Given the description of an element on the screen output the (x, y) to click on. 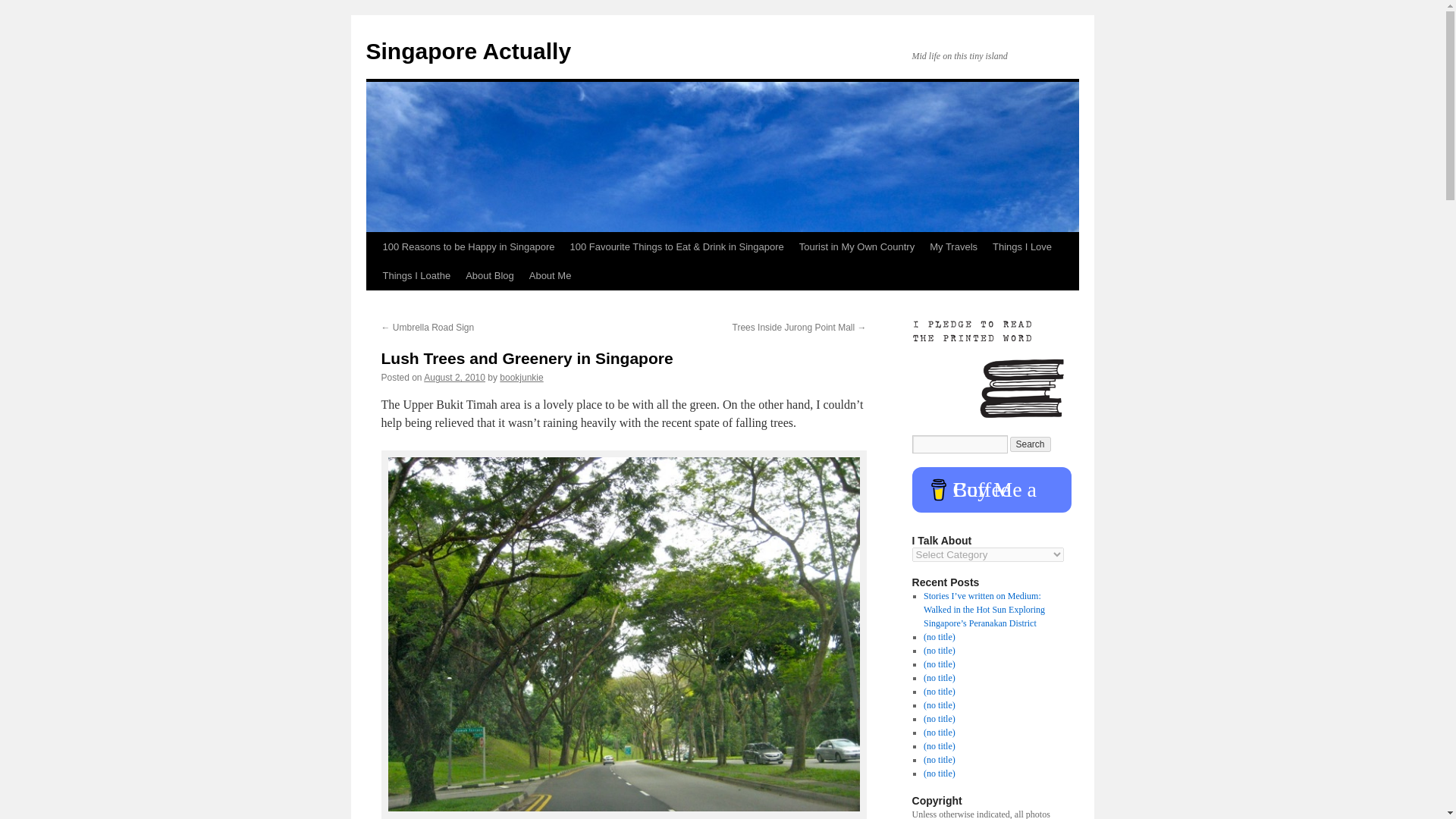
My Travels (953, 246)
About Blog (489, 275)
Things I Love (1022, 246)
Skip to content (372, 274)
About Me (550, 275)
Tourist in My Own Country (856, 246)
Singapore Actually (467, 50)
100 Reasons to be Happy in Singapore (468, 246)
Skip to content (372, 274)
August 2, 2010 (453, 377)
bookjunkie (521, 377)
12:37 pm (453, 377)
Singapore Actually (467, 50)
Search (1030, 444)
Things I Loathe (416, 275)
